Given the description of an element on the screen output the (x, y) to click on. 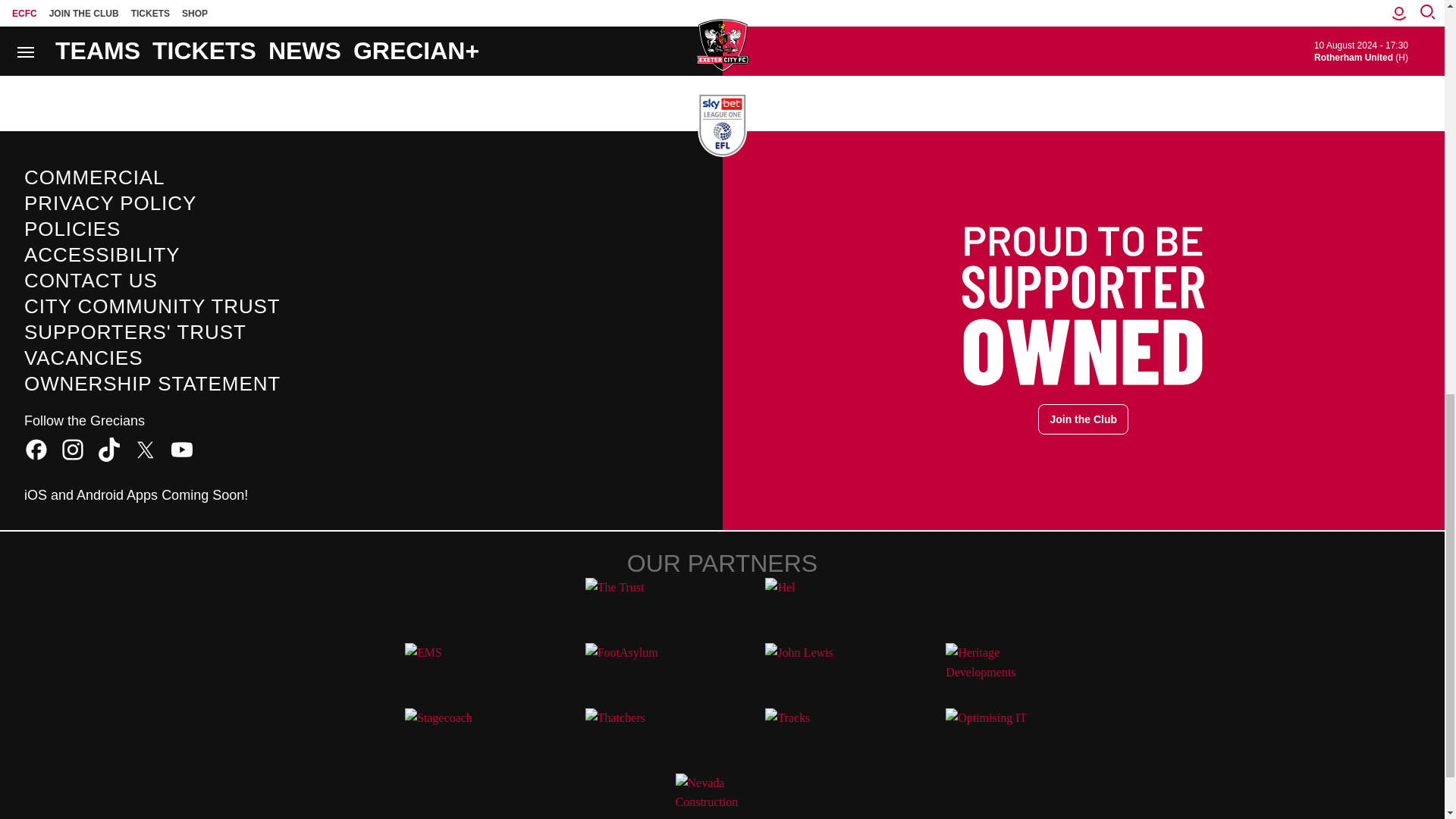
Stagecoach (451, 734)
John Lewis (812, 669)
Instagram (72, 449)
X Formally know as Twitter (145, 449)
TikTok icon (108, 449)
Footasylum (632, 669)
Optimising IT (991, 734)
Facebook (36, 449)
Thatchers (632, 734)
HEL (812, 604)
